Given the description of an element on the screen output the (x, y) to click on. 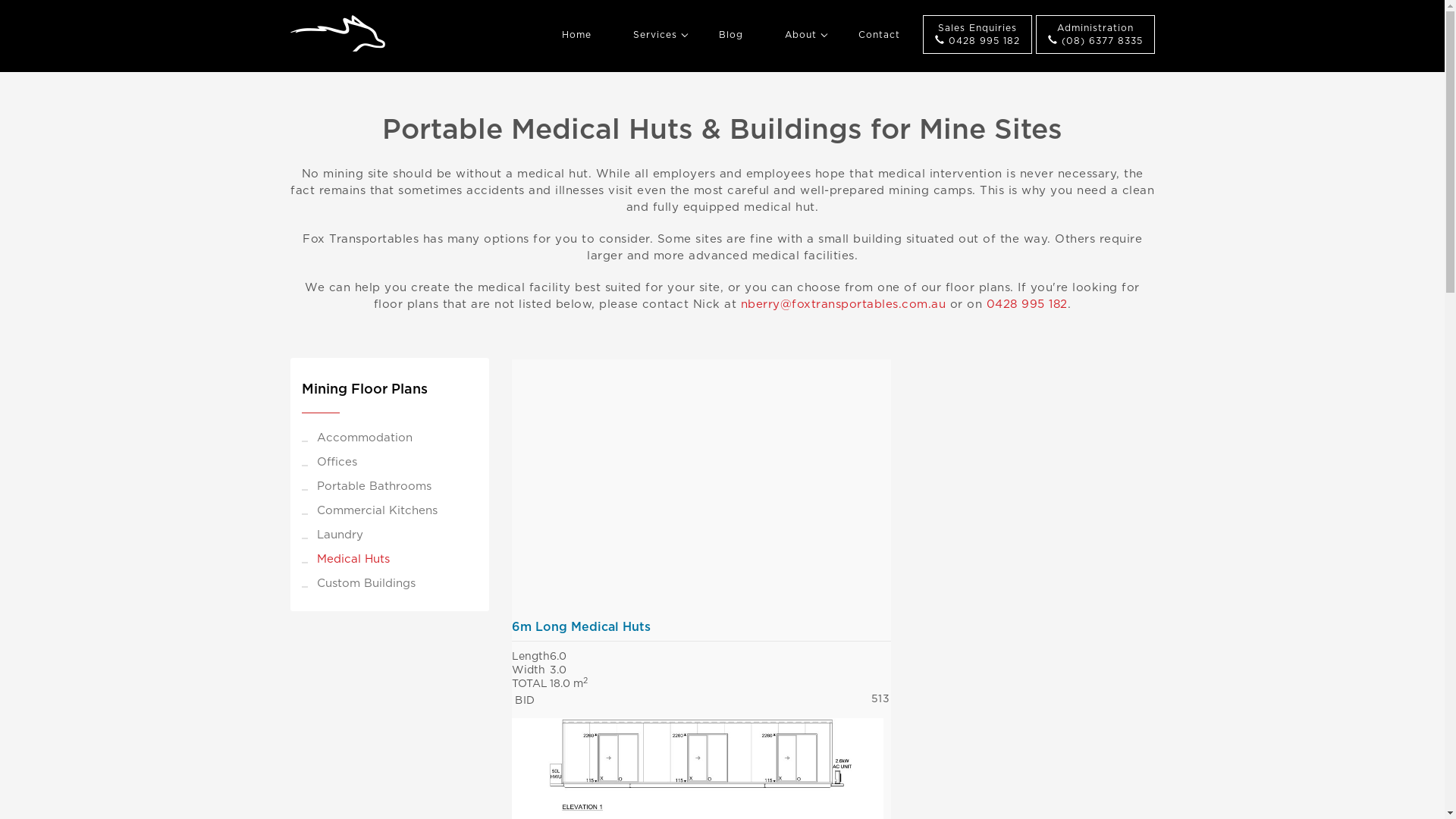
Custom Buildings Element type: text (389, 583)
Contact Element type: text (878, 34)
Offices Element type: text (389, 462)
Medical Huts Element type: text (389, 559)
Blog Element type: text (730, 34)
Services Element type: text (655, 34)
nberry@foxtransportables.com.au Element type: text (843, 304)
Home Element type: text (576, 34)
Administration
(08) 6377 8335 Element type: text (1094, 34)
Fox Transportables Element type: hover (336, 33)
Portable Bathrooms Element type: text (389, 486)
0428 995 182 Element type: text (1026, 304)
Laundry Element type: text (389, 535)
Commercial Kitchens Element type: text (389, 510)
Accommodation Element type: text (389, 438)
About Element type: text (800, 34)
6m Long Medical Huts Element type: hover (697, 483)
Sales Enquiries
0428 995 182 Element type: text (976, 34)
